Given the description of an element on the screen output the (x, y) to click on. 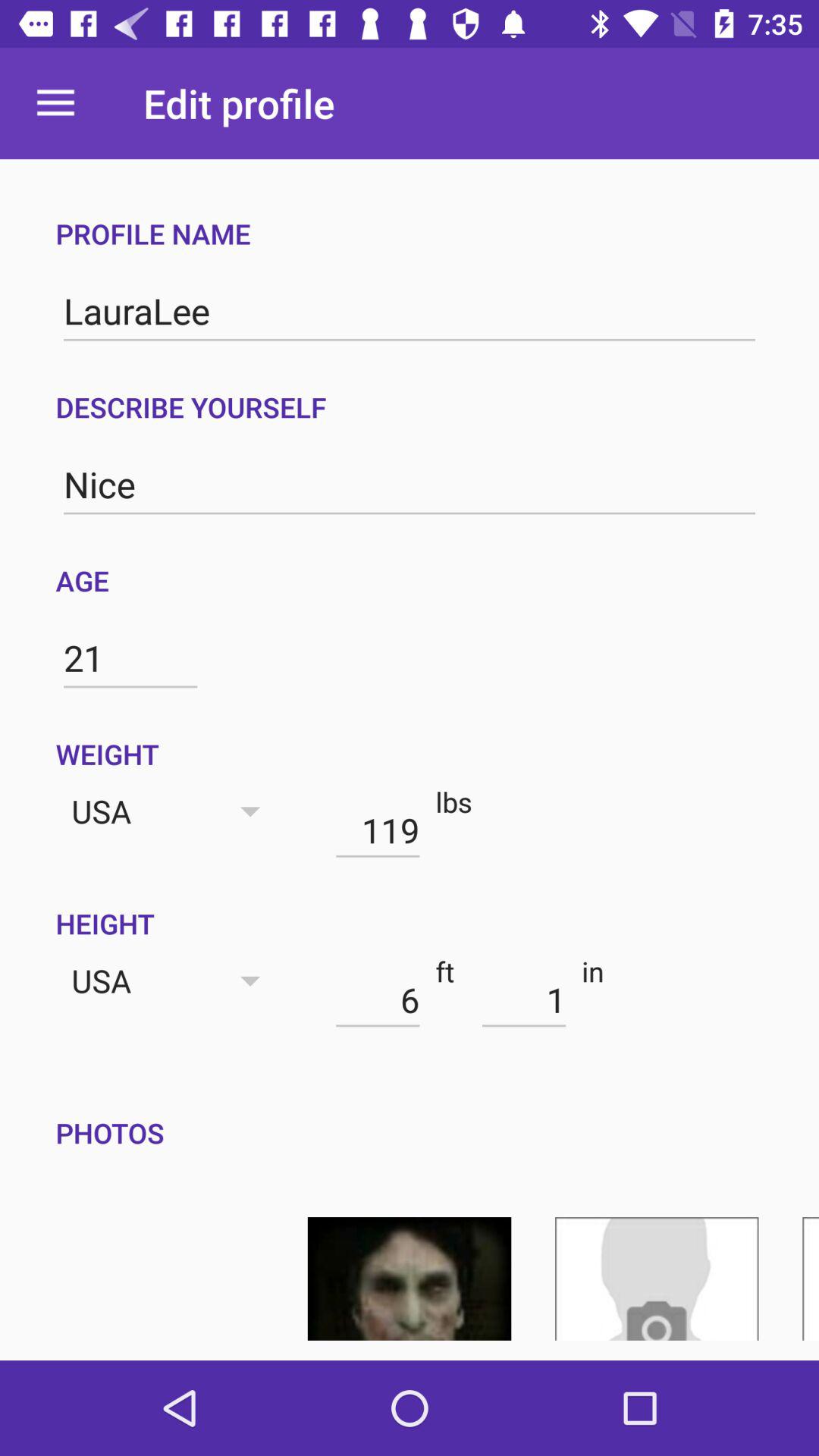
choose icon above the weight icon (130, 658)
